Given the description of an element on the screen output the (x, y) to click on. 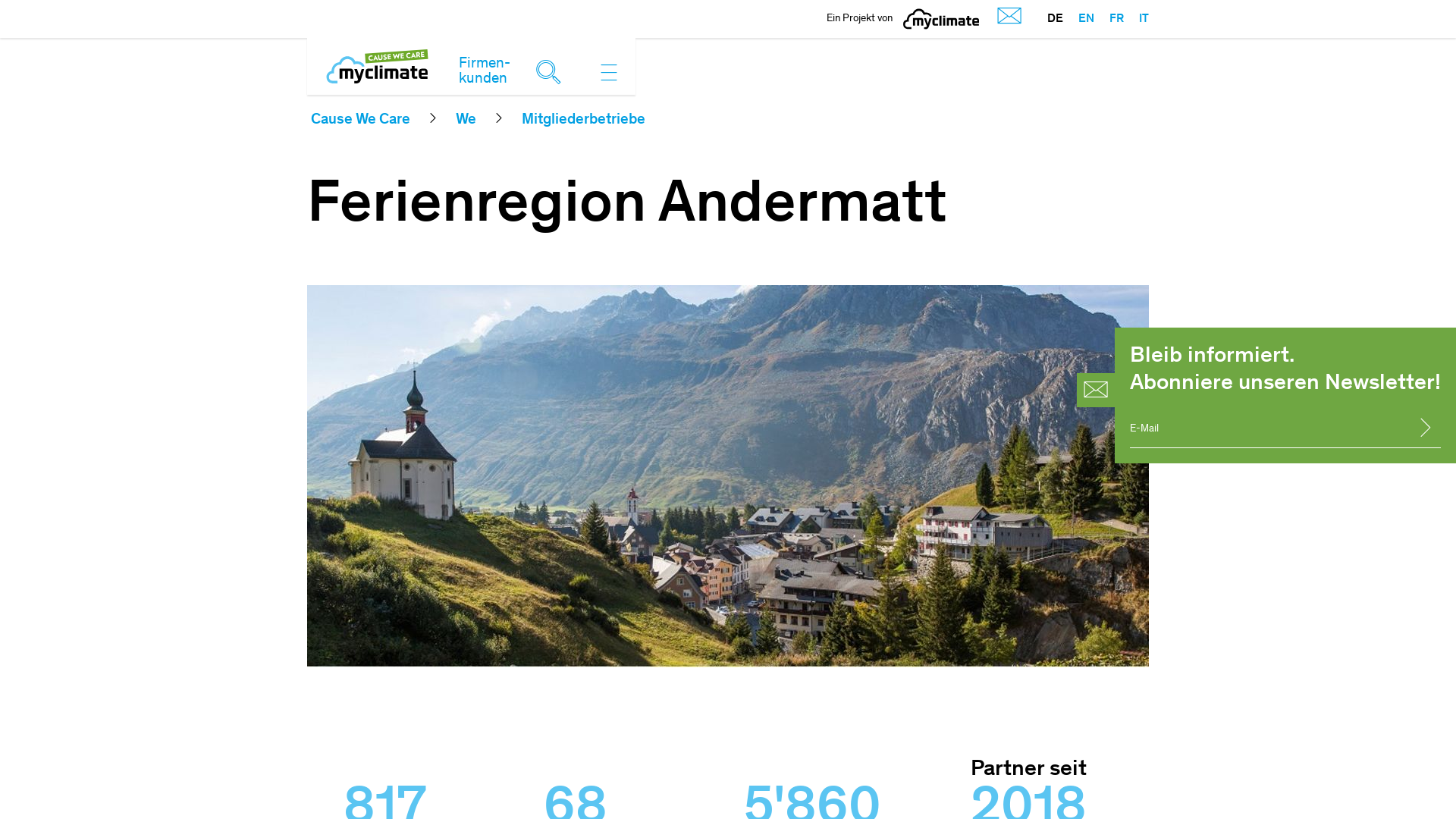
Kontakt Element type: text (1005, 18)
Firmen-
kunden Element type: text (484, 71)
We Element type: text (465, 120)
FR Element type: text (1108, 18)
DE Element type: text (1055, 18)
IT Element type: text (1135, 18)
Suche Element type: hover (552, 69)
myclimate Element type: hover (941, 18)
myclimate Element type: hover (941, 18)
Cause We Care Element type: text (360, 120)
EN Element type: text (1078, 18)
Mitgliederbetriebe Element type: text (583, 120)
